Given the description of an element on the screen output the (x, y) to click on. 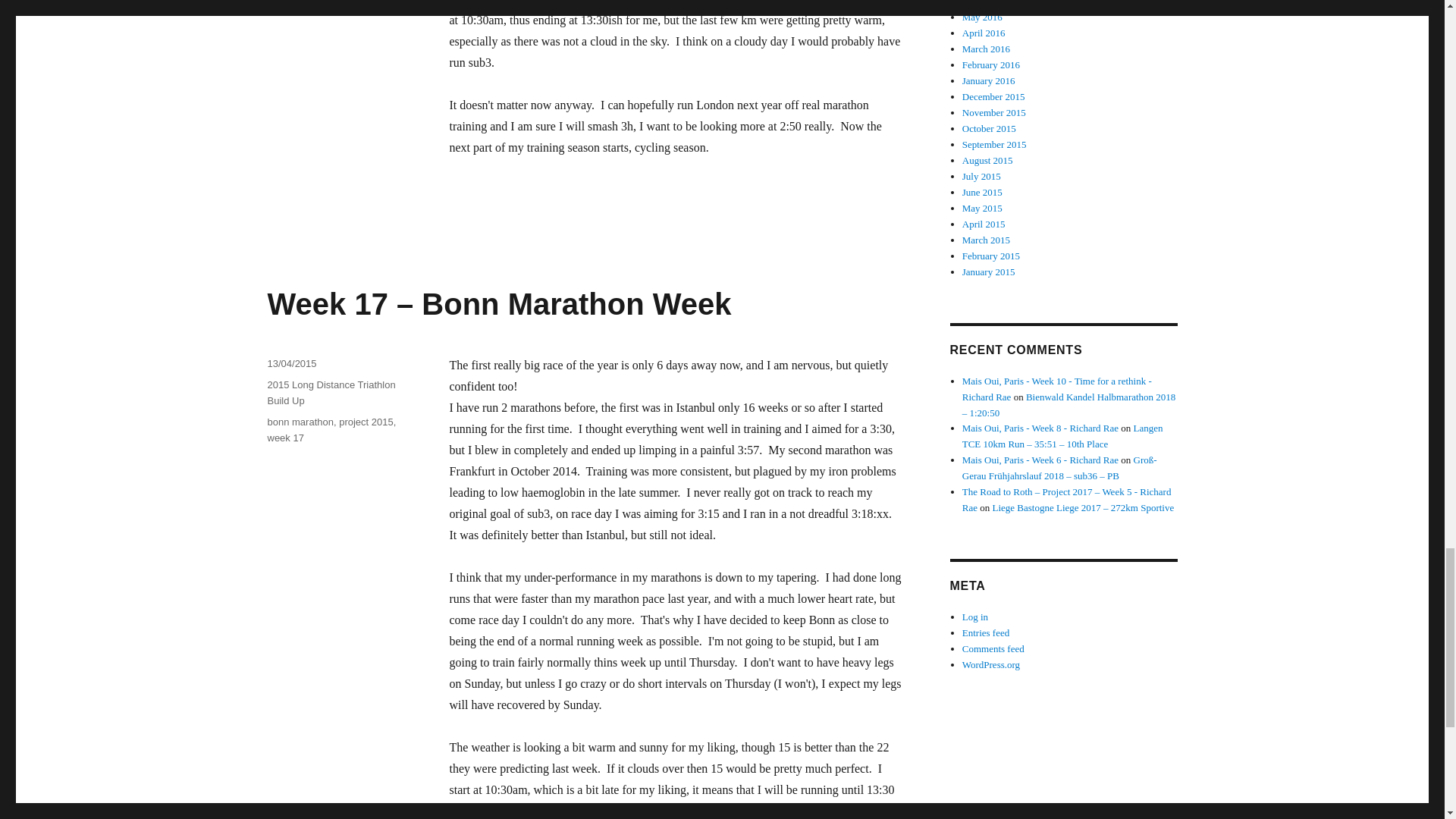
project 2015 (366, 421)
bonn marathon (299, 421)
week 17 (284, 437)
2015 Long Distance Triathlon Build Up (330, 392)
